Given the description of an element on the screen output the (x, y) to click on. 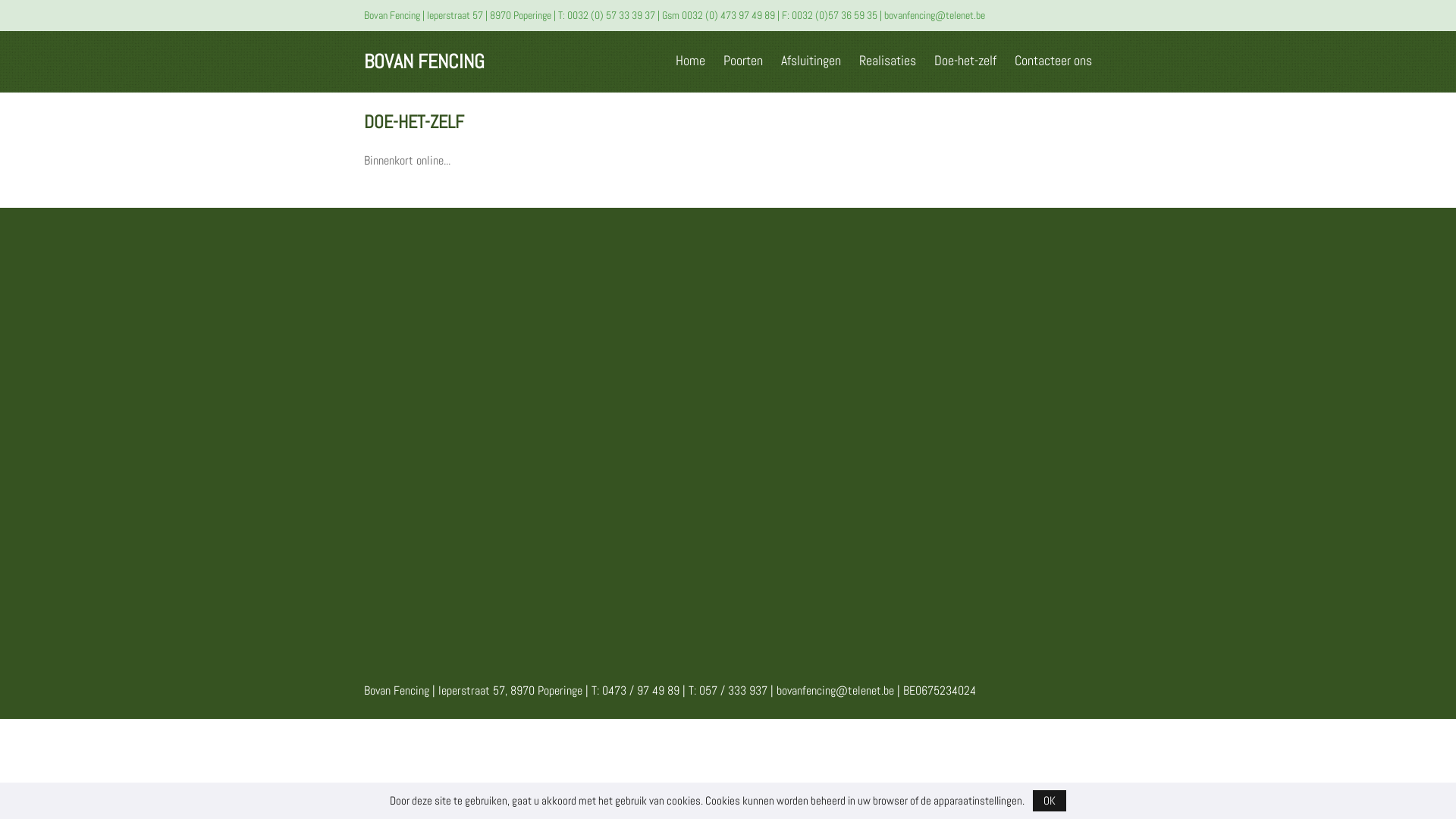
Home Element type: text (690, 60)
OK Element type: text (1049, 800)
Afsluitingen Element type: text (810, 60)
BOVAN FENCING Element type: text (424, 61)
Poorten Element type: text (742, 60)
Realisaties Element type: text (887, 60)
Contacteer ons Element type: text (1053, 60)
Doe-het-zelf Element type: text (965, 60)
